Given the description of an element on the screen output the (x, y) to click on. 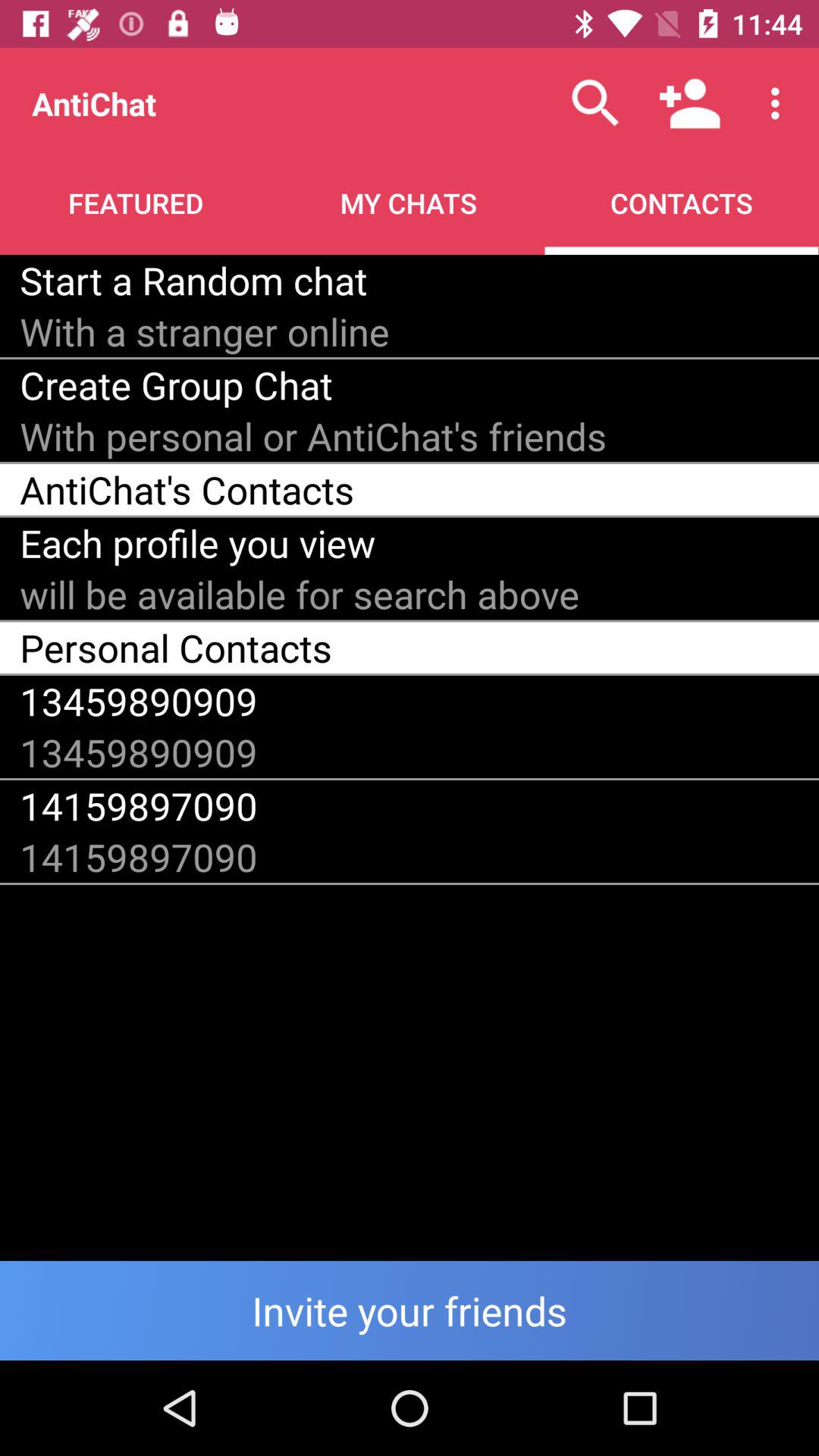
select the item below the with a stranger icon (175, 384)
